Given the description of an element on the screen output the (x, y) to click on. 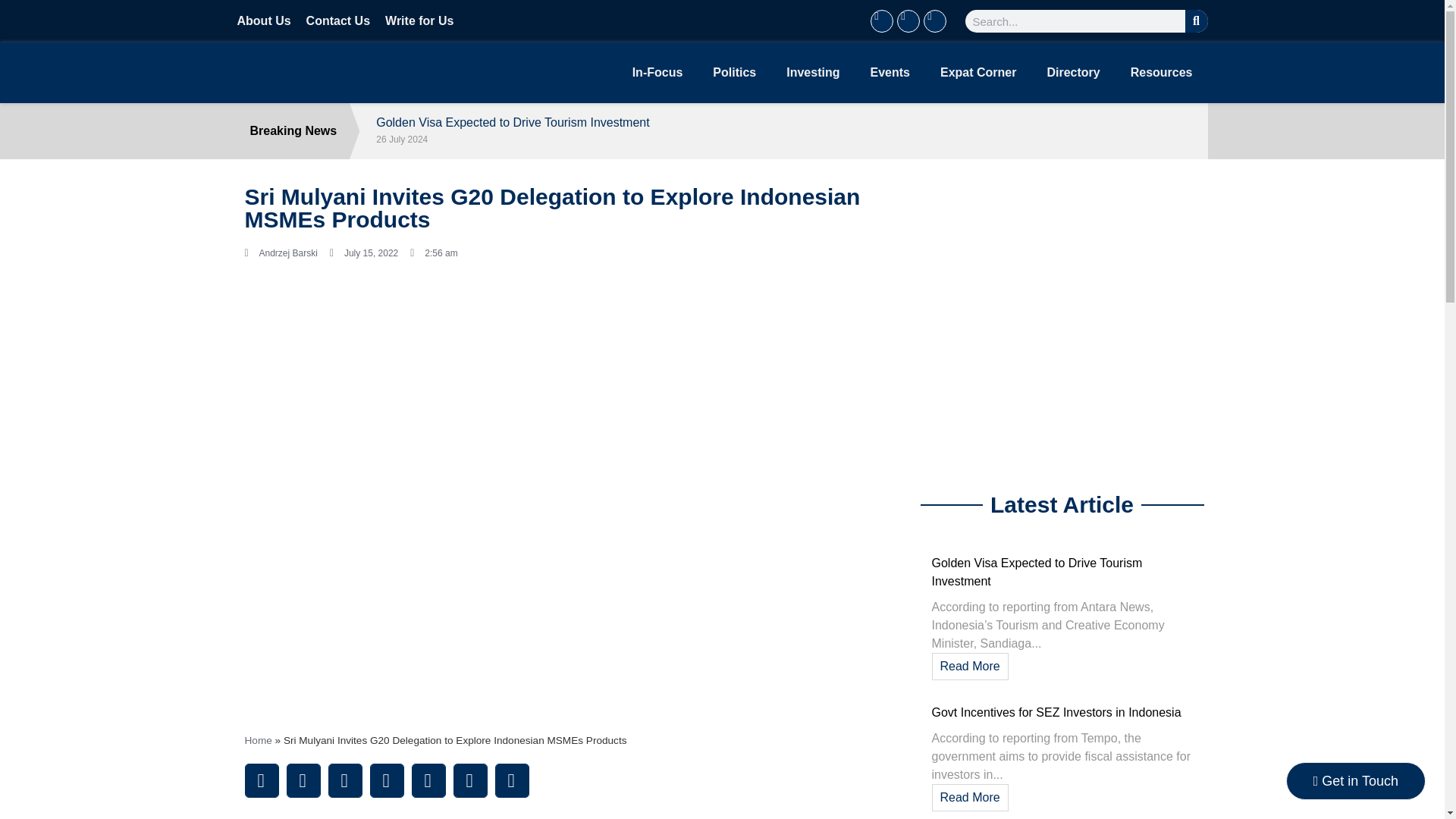
Golden Visa Expected to Drive Tourism Investment (1036, 572)
Golden Visa Expected to Drive Tourism Investment (785, 122)
Expat Corner (977, 72)
Politics (734, 72)
Contact Us (337, 21)
Resources (1161, 72)
Govt Incentives for SEZ Investors in Indonesia (1055, 712)
Events (889, 72)
Directory (1072, 72)
Write for Us (418, 21)
About Us (262, 21)
Investing (812, 72)
In-Focus (657, 72)
